Given the description of an element on the screen output the (x, y) to click on. 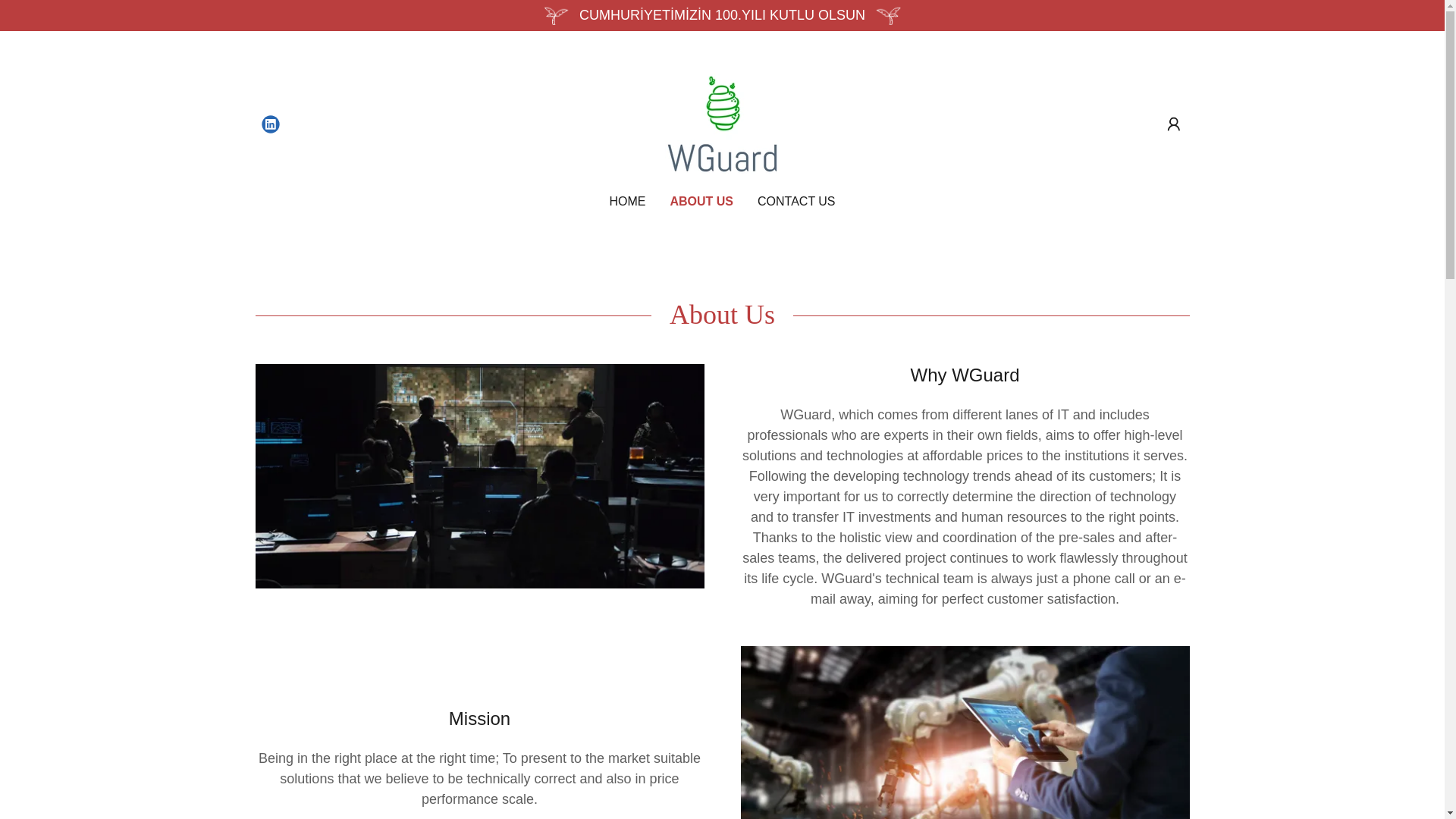
HOME (626, 201)
CONTACT US (796, 201)
ABOUT US (701, 201)
